Given the description of an element on the screen output the (x, y) to click on. 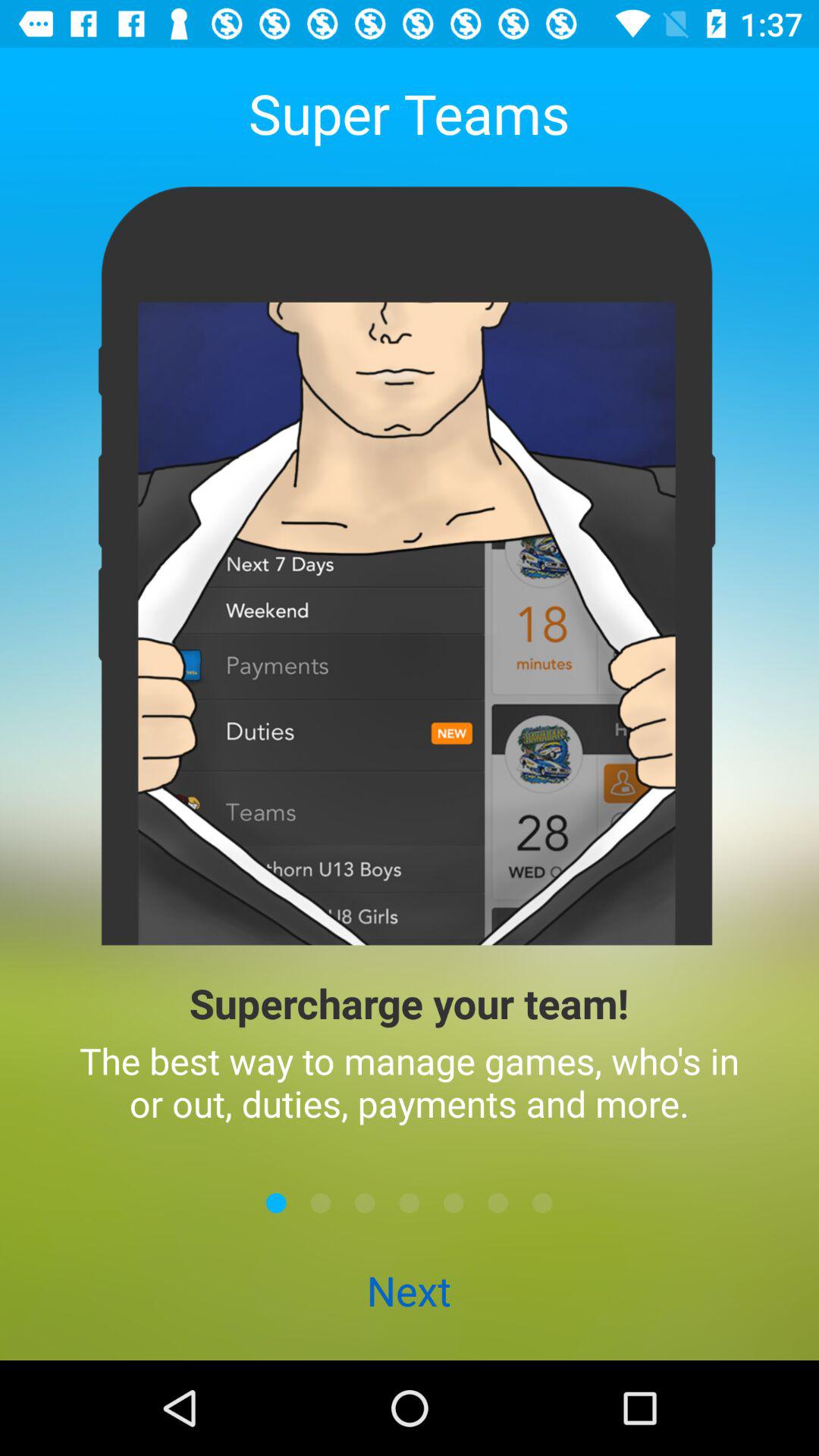
click the item below the the best way item (364, 1203)
